Given the description of an element on the screen output the (x, y) to click on. 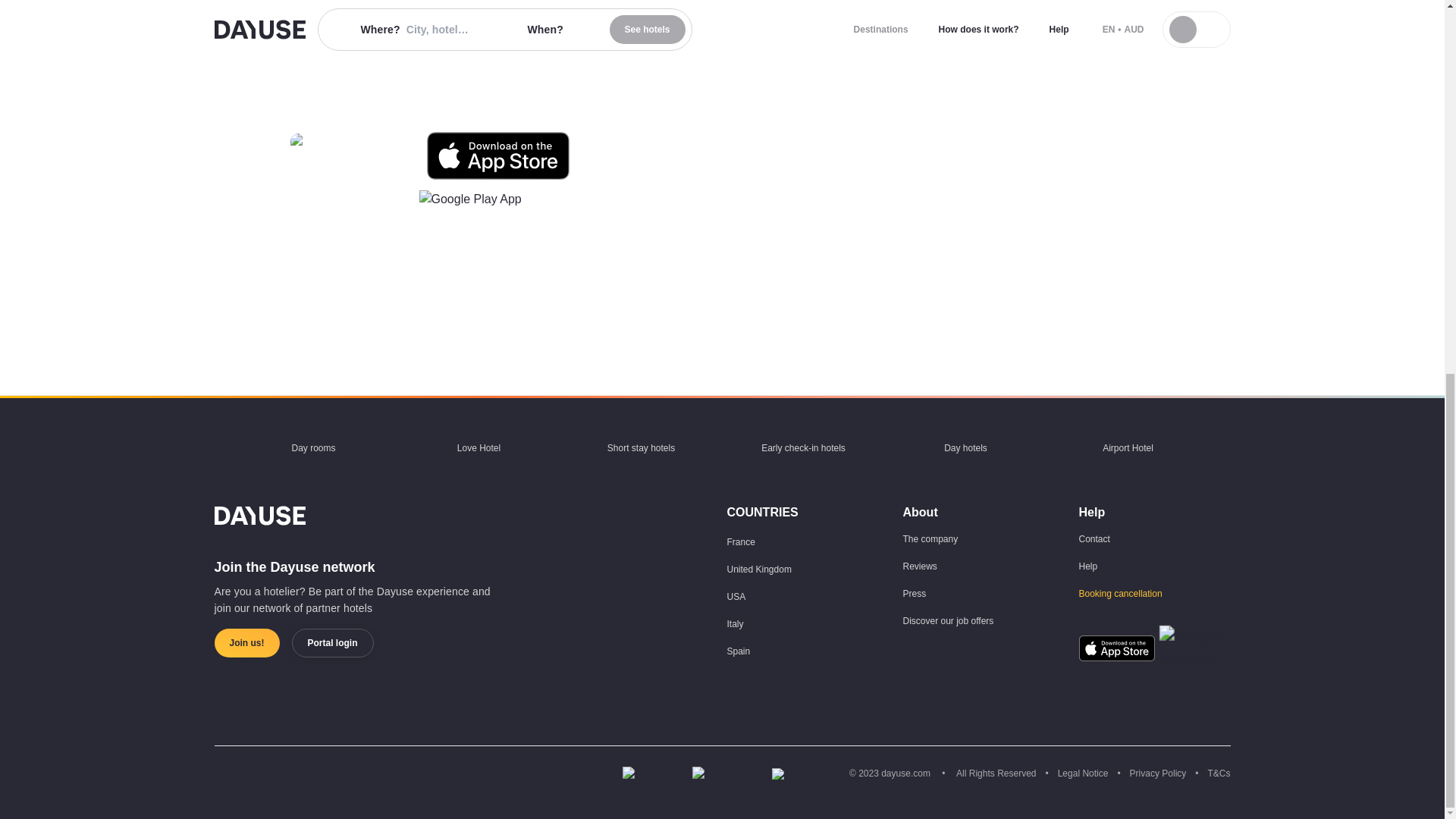
Early check-in hotels (802, 447)
Suivant (1222, 447)
Spain (737, 651)
Dayuse (359, 515)
Love Hotel (478, 447)
Short stay hotels (641, 447)
Day rooms (312, 447)
Airport Hotel (1127, 447)
USA (735, 596)
